Given the description of an element on the screen output the (x, y) to click on. 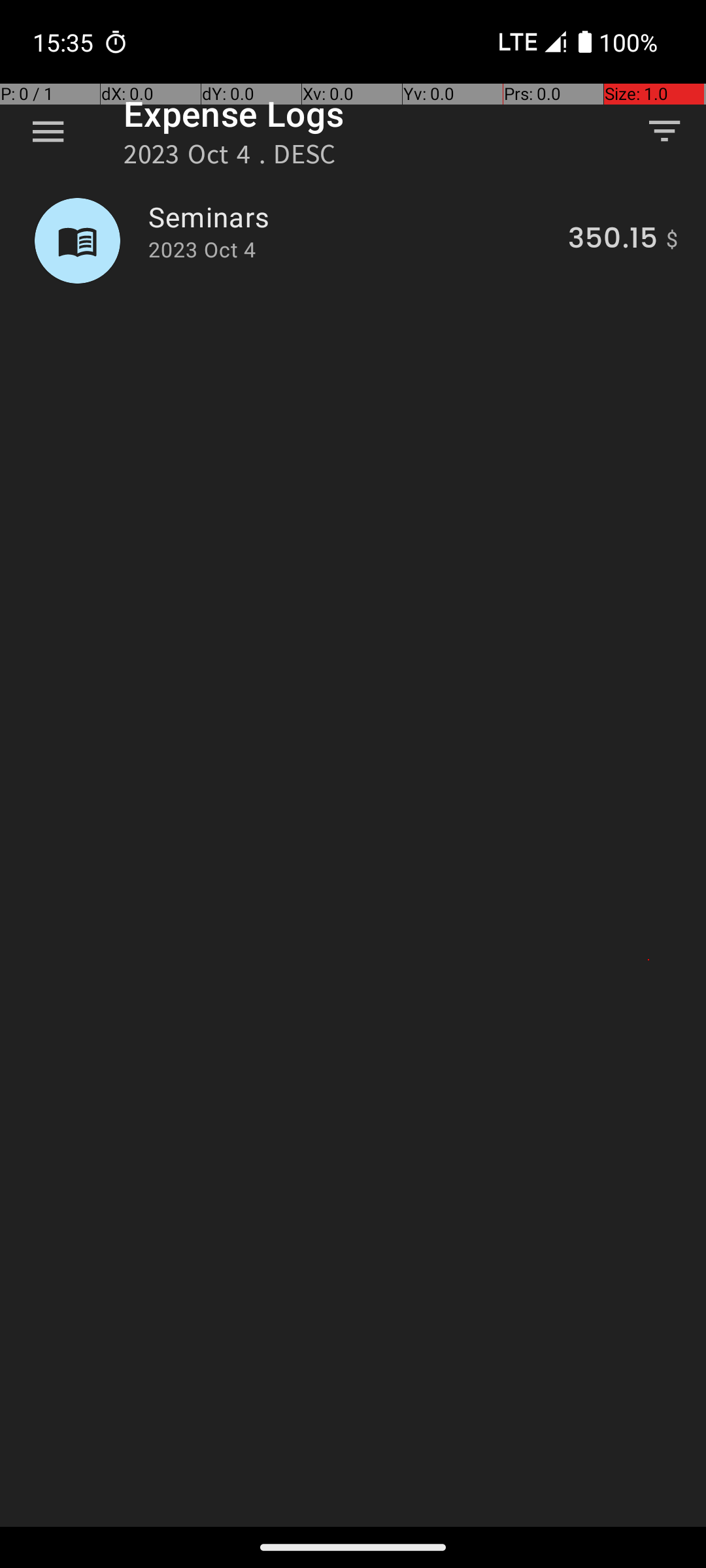
2023 Oct 4 . DESC Element type: android.widget.TextView (229, 157)
Filter Element type: android.widget.TextView (664, 131)
Seminars Element type: android.widget.TextView (350, 216)
2023 Oct 4 Element type: android.widget.TextView (201, 249)
350.15 Element type: android.widget.TextView (612, 240)
